Given the description of an element on the screen output the (x, y) to click on. 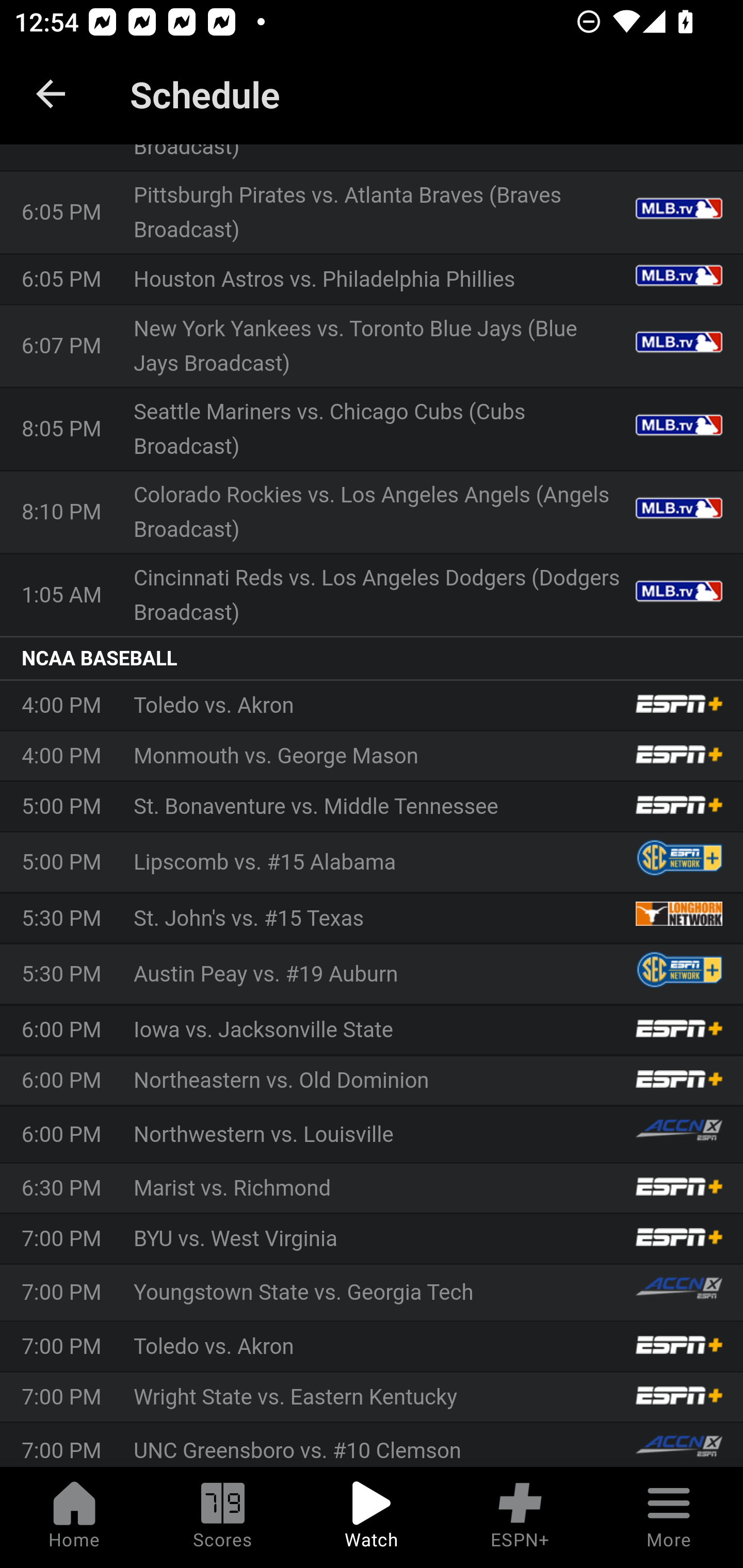
back.button (50, 93)
Home (74, 1517)
Scores (222, 1517)
ESPN+ (519, 1517)
More (668, 1517)
